Given the description of an element on the screen output the (x, y) to click on. 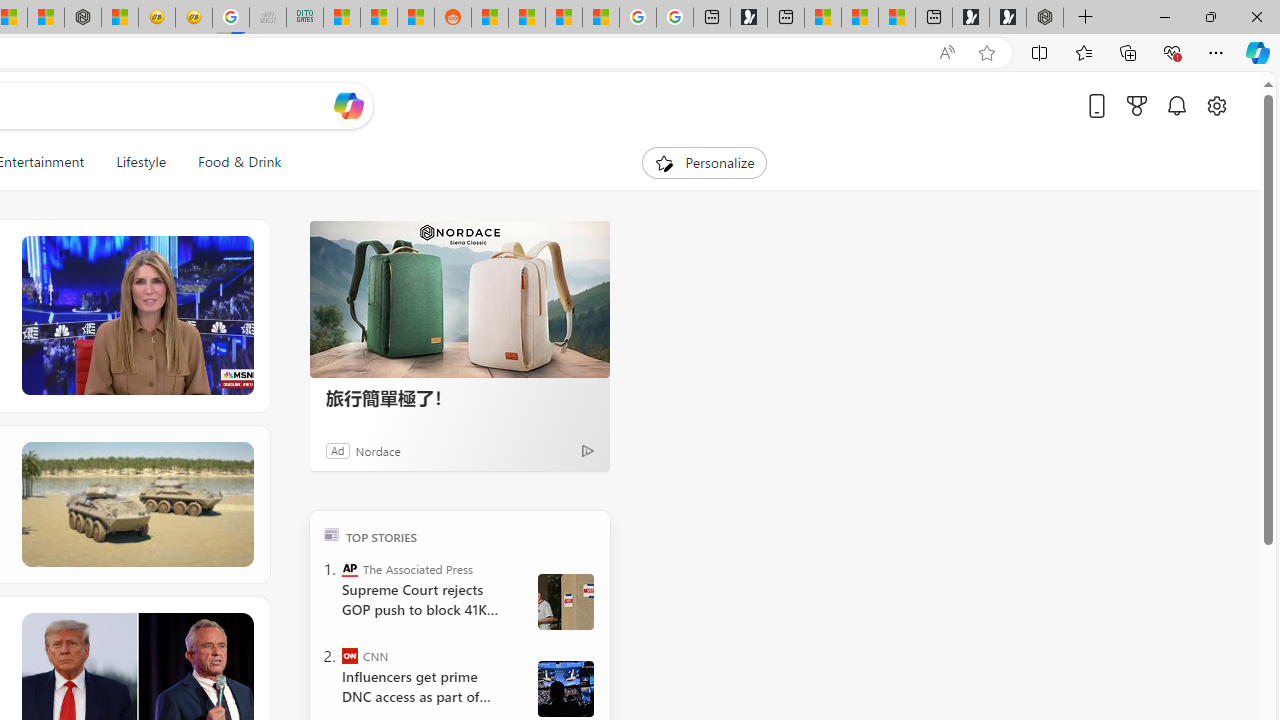
DITOGAMES AG Imprint (304, 17)
 ATS_2336.jpg (565, 688)
Open Copilot (347, 105)
Ad Choice (587, 449)
R******* | Trusted Community Engagement and Contributions (490, 17)
TOP (331, 534)
